Given the description of an element on the screen output the (x, y) to click on. 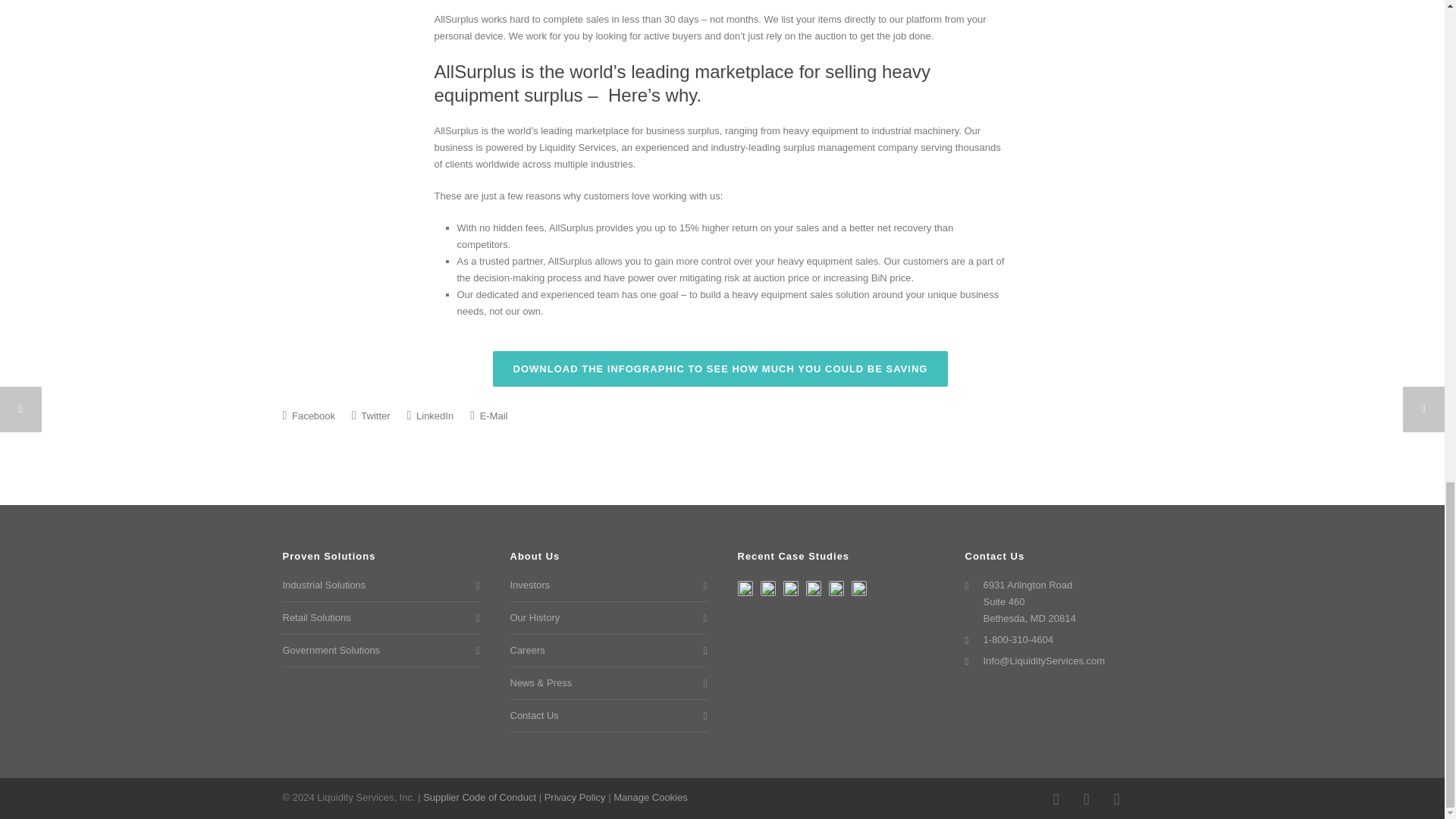
Share via LinkedIn (430, 415)
Transforming Surplus Technology Management with GovDeals (858, 588)
Share via Twitter (371, 415)
Twitter (1115, 798)
Share via Facebook (308, 415)
LinkedIn (1085, 798)
Share via E-Mail (488, 415)
Facebook (1055, 798)
